Given the description of an element on the screen output the (x, y) to click on. 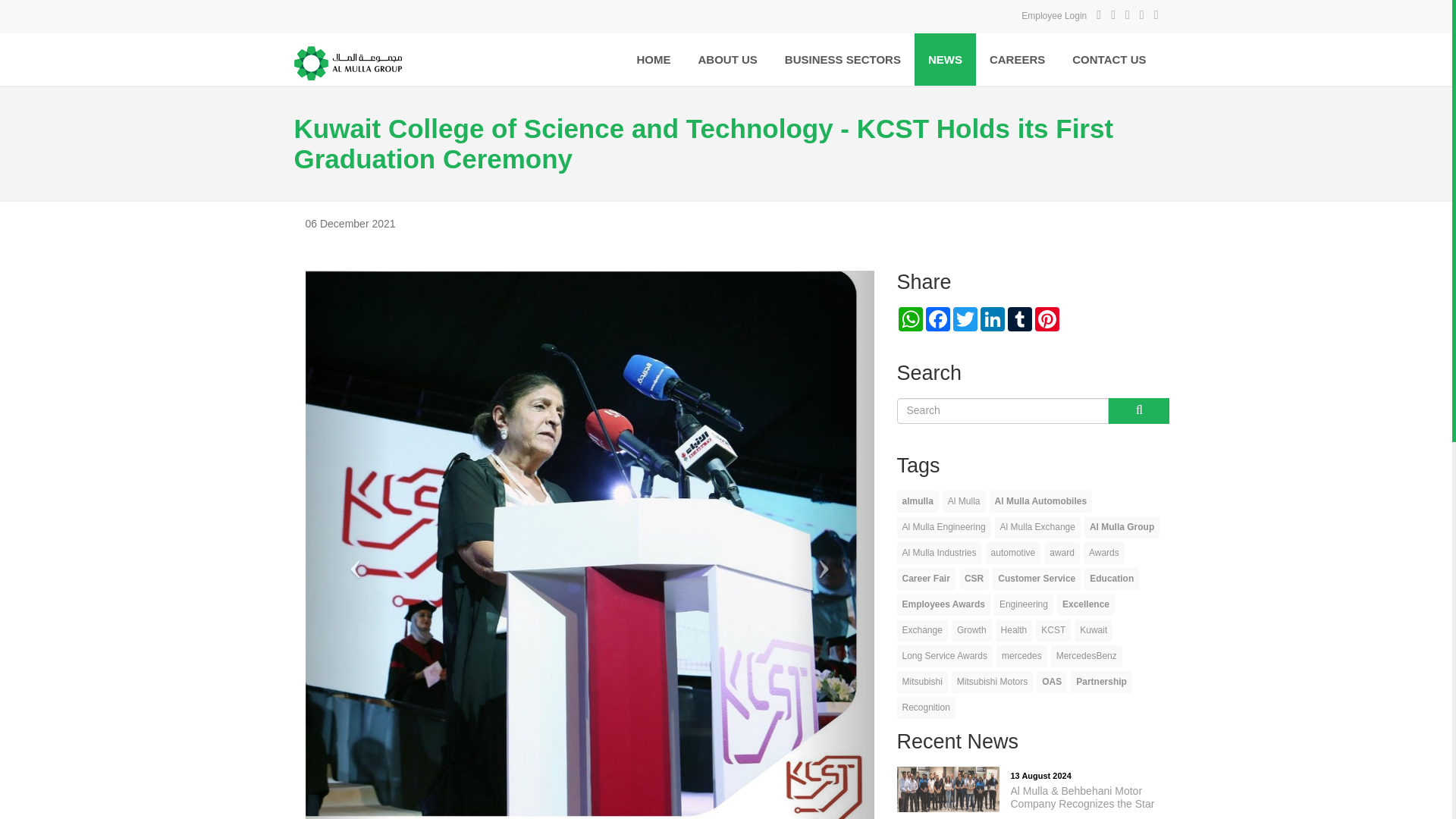
22 items tagged with Exchange (921, 630)
11 items tagged with Employees Awards (943, 604)
18 items tagged with Growth (971, 630)
13 items tagged with award (1061, 553)
18 items tagged with Al Mulla Engineering (943, 527)
244 items tagged with Al Mulla (963, 501)
9 items tagged with Career Fair (925, 578)
31 items tagged with Al Mulla Exchange (1037, 527)
28 items tagged with CSR (973, 578)
ABOUT US (727, 59)
